Given the description of an element on the screen output the (x, y) to click on. 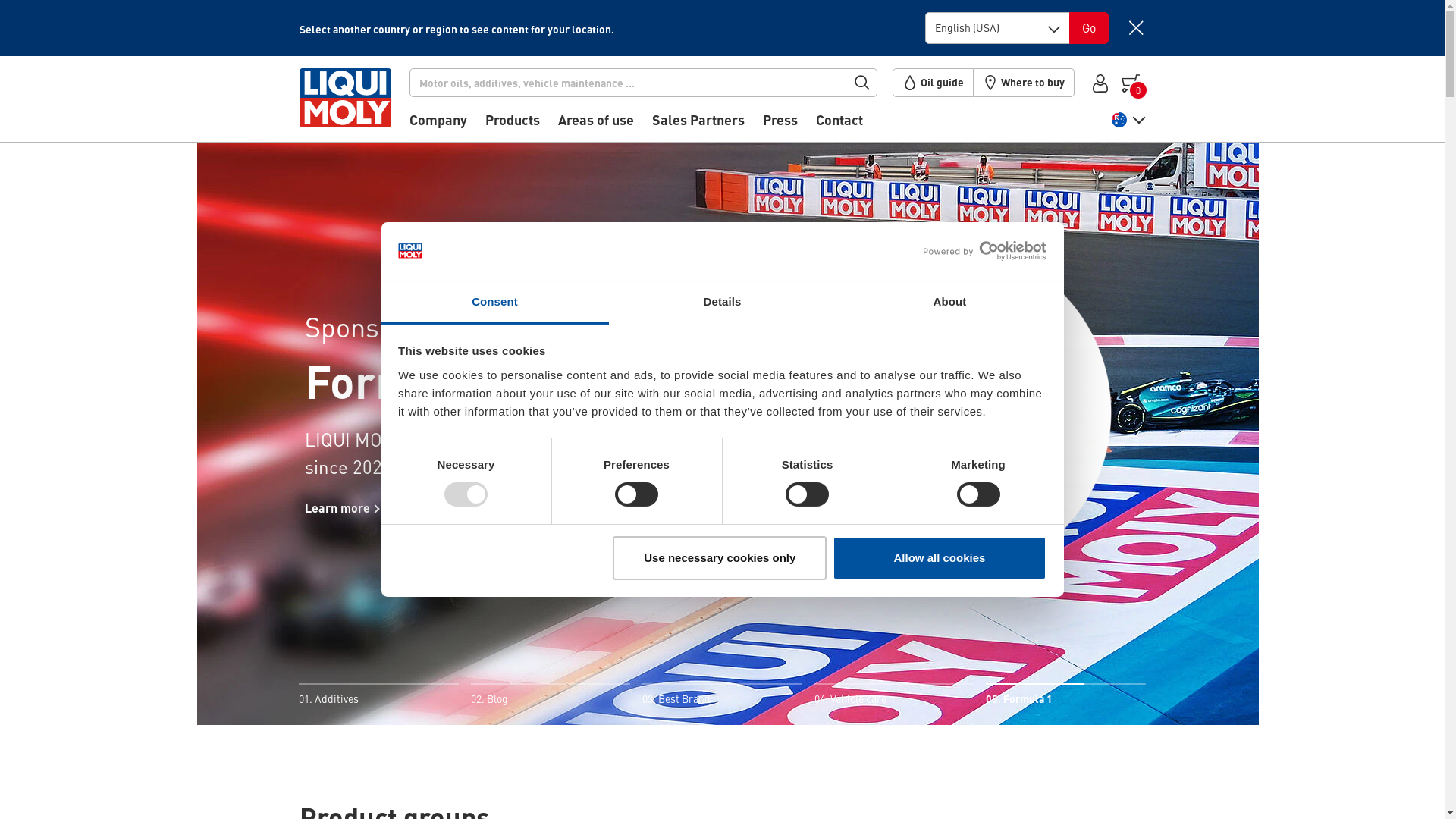
0 Element type: text (1132, 82)
Press Element type: text (779, 125)
Areas of use Element type: text (595, 125)
Contact Element type: text (838, 125)
Consent Element type: text (494, 302)
About Element type: text (949, 302)
Products Element type: text (512, 125)
02. Blog Element type: text (550, 695)
Go Element type: text (1088, 27)
05. Formula 1 Element type: text (1065, 695)
03. Best Brand Element type: text (721, 695)
04. Vehicle care Element type: text (893, 695)
Oil guide Element type: text (932, 82)
Details Element type: text (721, 302)
Sales Partners Element type: text (698, 125)
Company Element type: text (438, 125)
Sign In Element type: hover (1099, 82)
Use necessary cookies only Element type: text (719, 558)
Allow all cookies Element type: text (939, 558)
01. Additives Element type: text (378, 695)
Where to buy Element type: text (1023, 82)
